Given the description of an element on the screen output the (x, y) to click on. 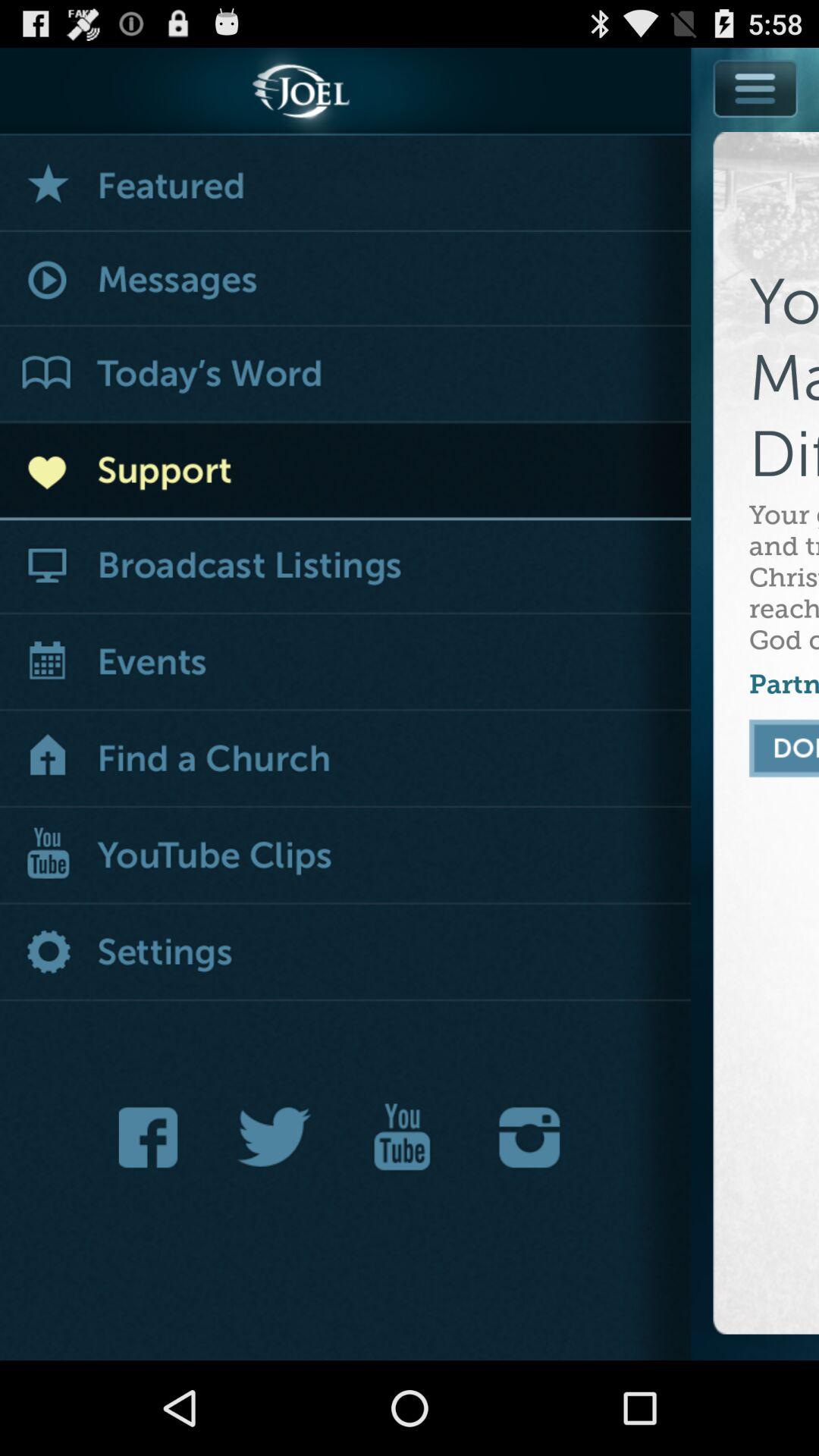
instagram (529, 1137)
